Given the description of an element on the screen output the (x, y) to click on. 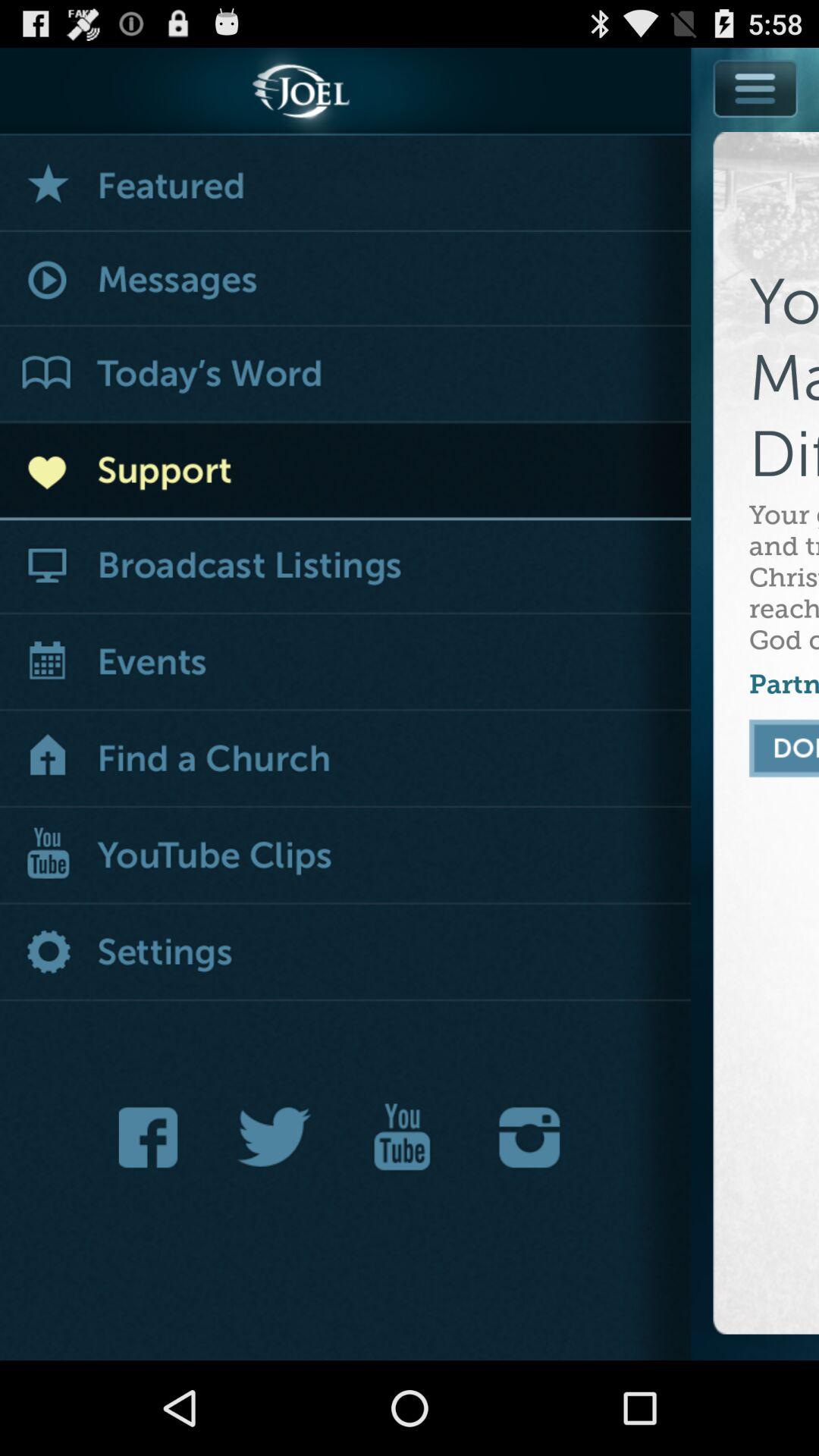
instagram (529, 1137)
